Given the description of an element on the screen output the (x, y) to click on. 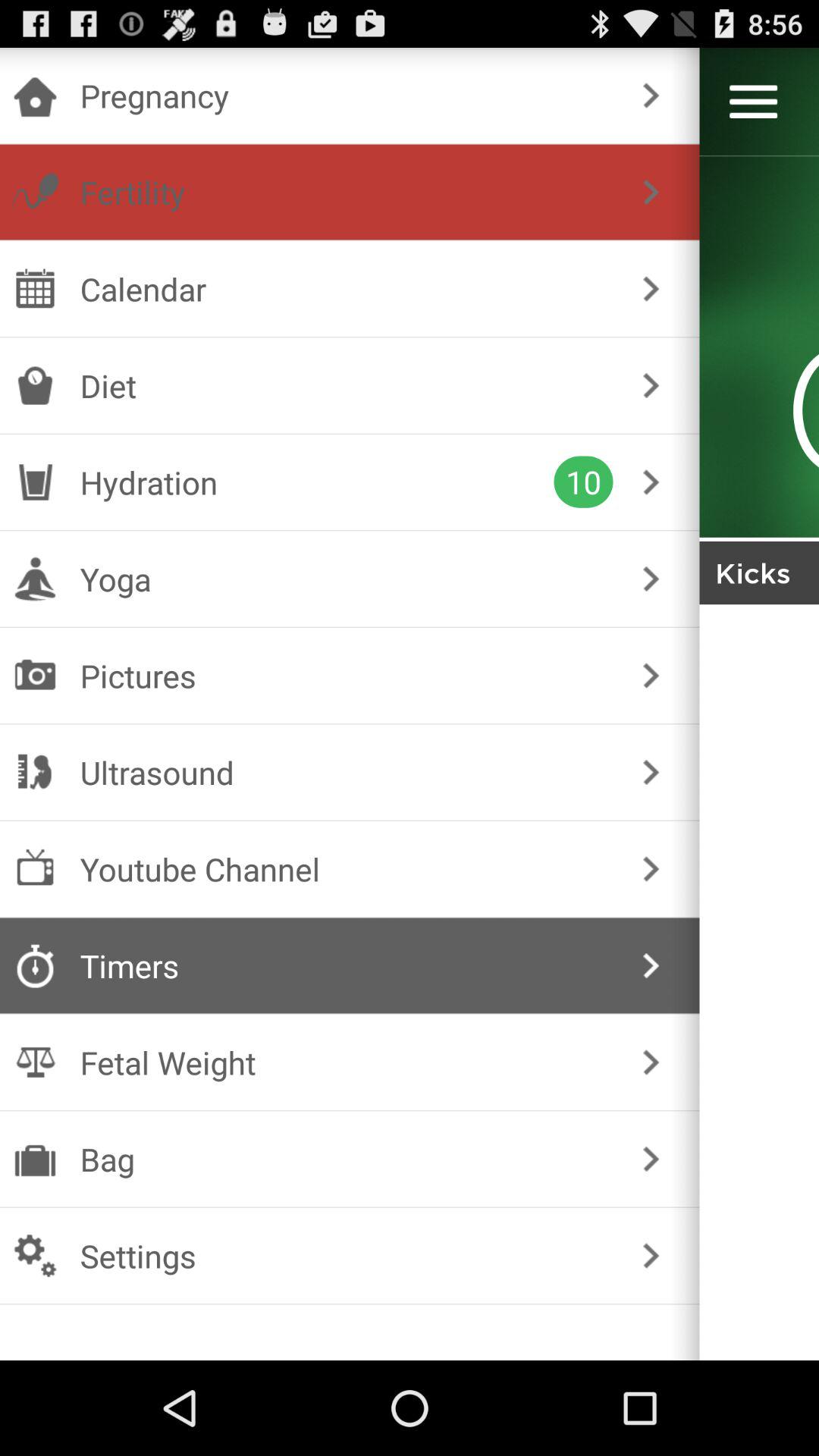
turn on the fetal weight icon (346, 1062)
